Given the description of an element on the screen output the (x, y) to click on. 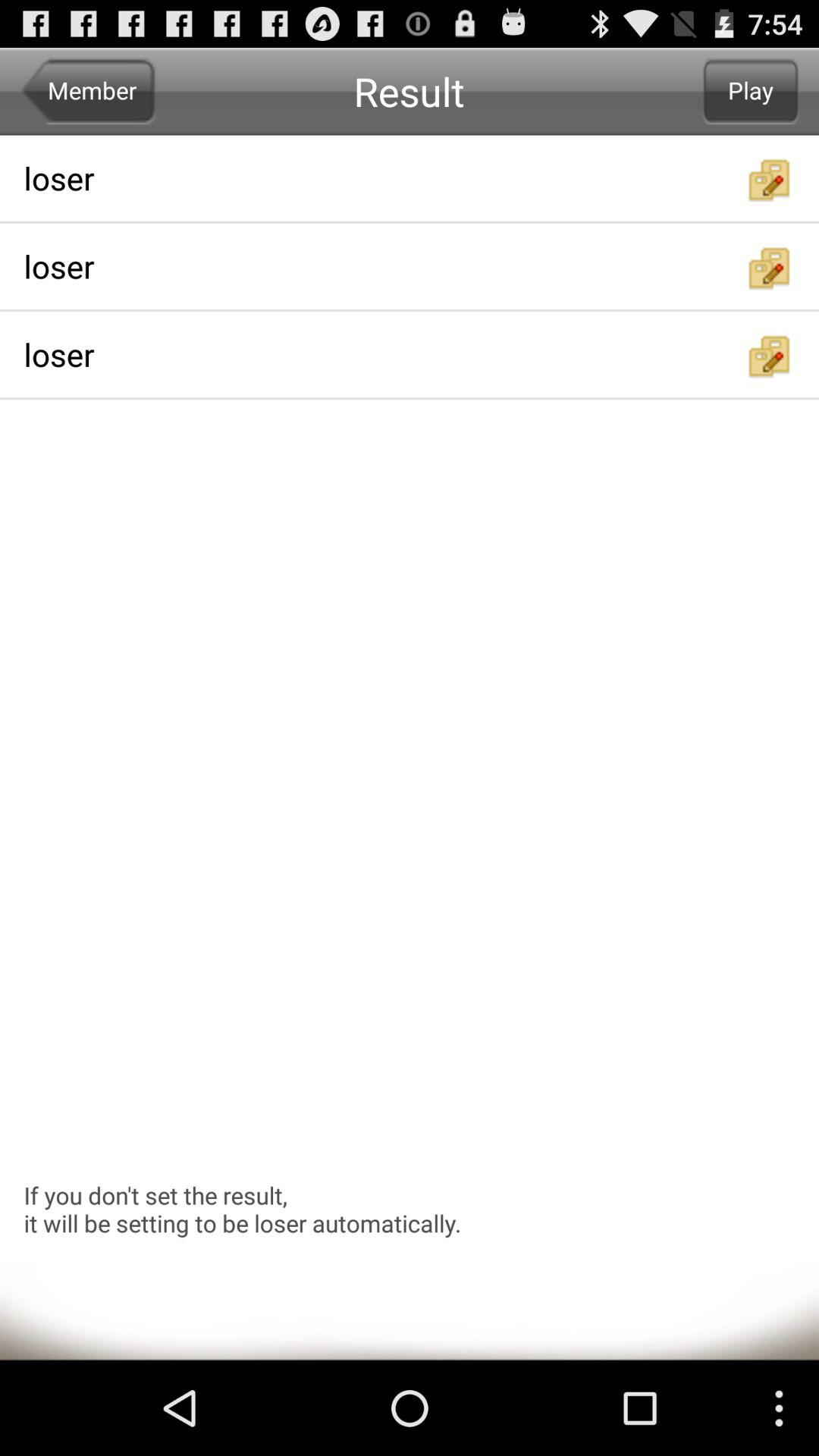
press icon to the right of the result item (750, 91)
